Given the description of an element on the screen output the (x, y) to click on. 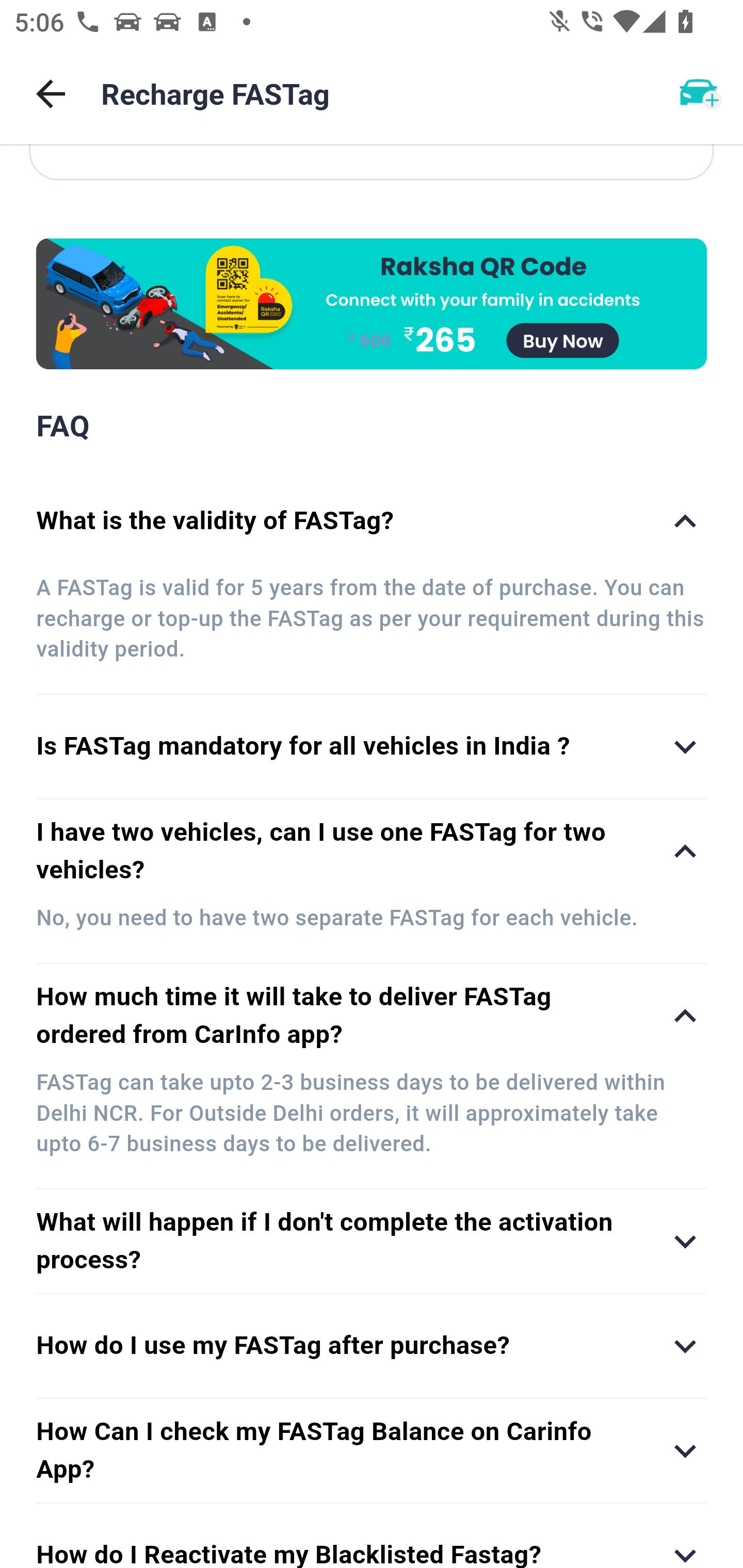
Back (50, 93)
Is FASTag mandatory for all vehicles in India ? (371, 746)
How do I use my FASTag after purchase? (371, 1345)
How Can I check my FASTag Balance on Carinfo App? (371, 1450)
How do I Reactivate my Blacklisted Fastag? (371, 1535)
